Given the description of an element on the screen output the (x, y) to click on. 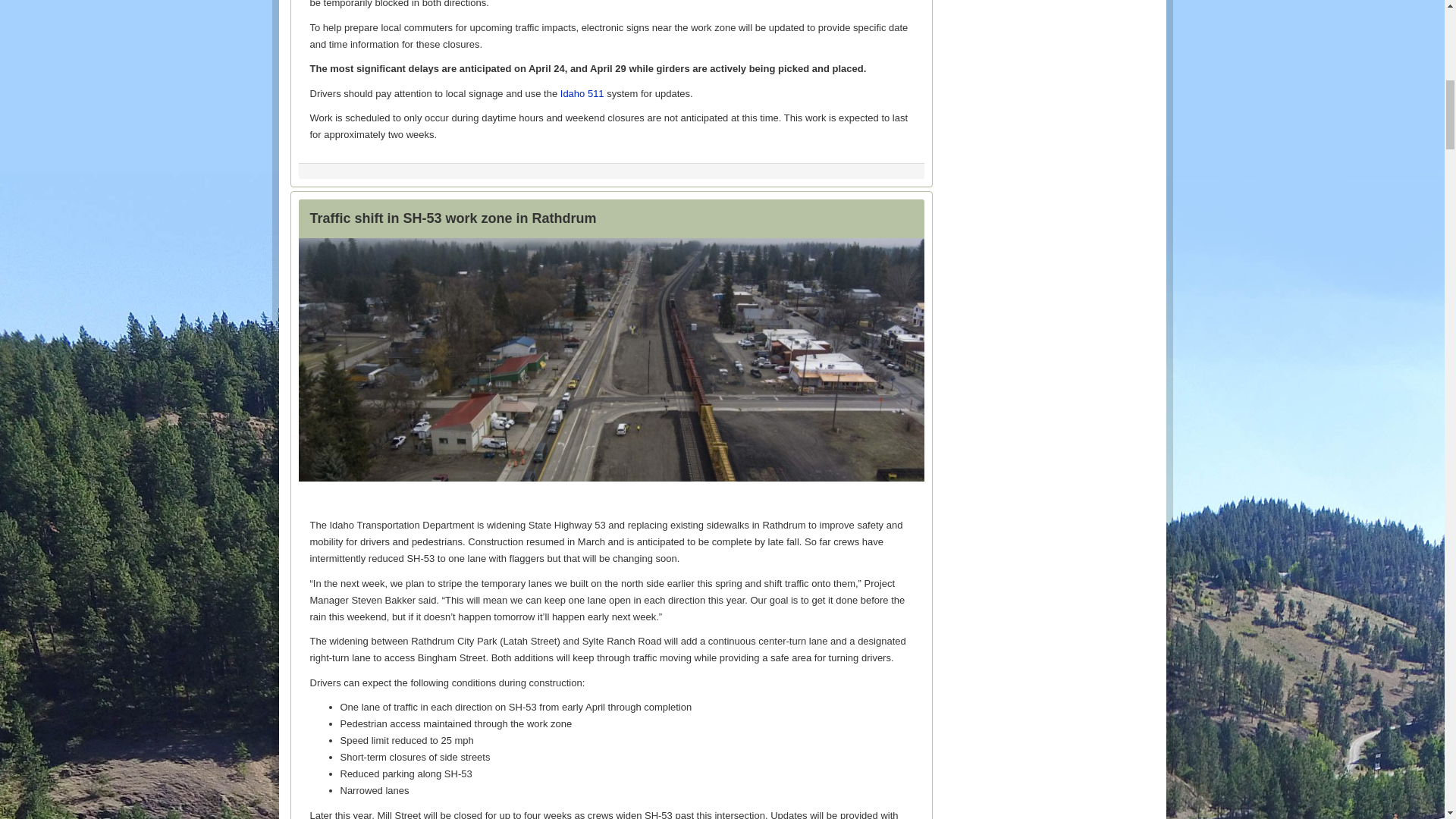
Idaho 511 (582, 93)
Traffic shift in SH-53 work zone in Rathdrum (451, 218)
